Given the description of an element on the screen output the (x, y) to click on. 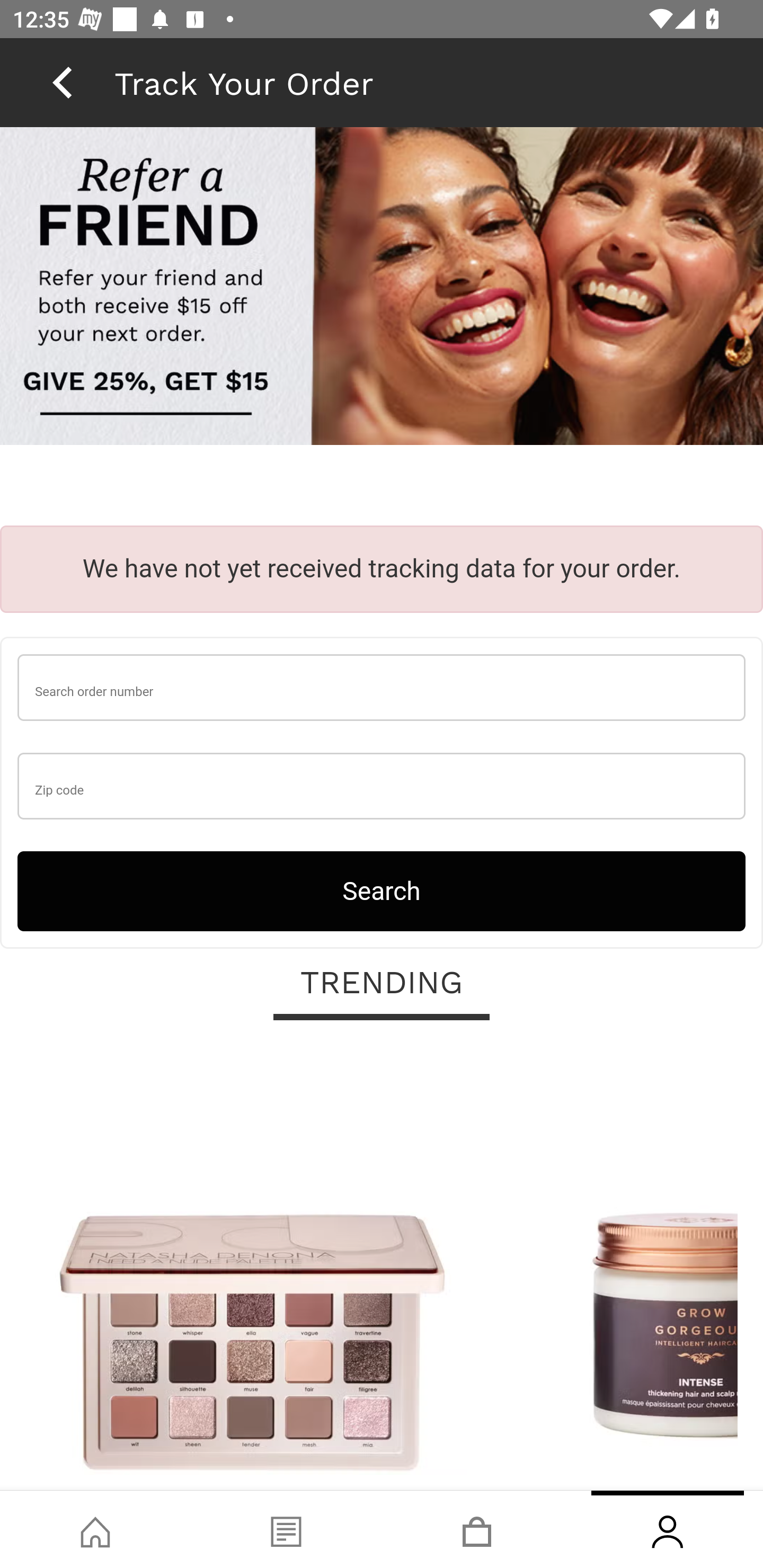
back (61, 82)
raf (381, 288)
Search (381, 890)
TRENDING (381, 983)
Natasha Denona I Need A Nude Palette (252, 1266)
Shop, tab, 1 of 4 (95, 1529)
Blog, tab, 2 of 4 (285, 1529)
Basket, tab, 3 of 4 (476, 1529)
Account, tab, 4 of 4 (667, 1529)
